Given the description of an element on the screen output the (x, y) to click on. 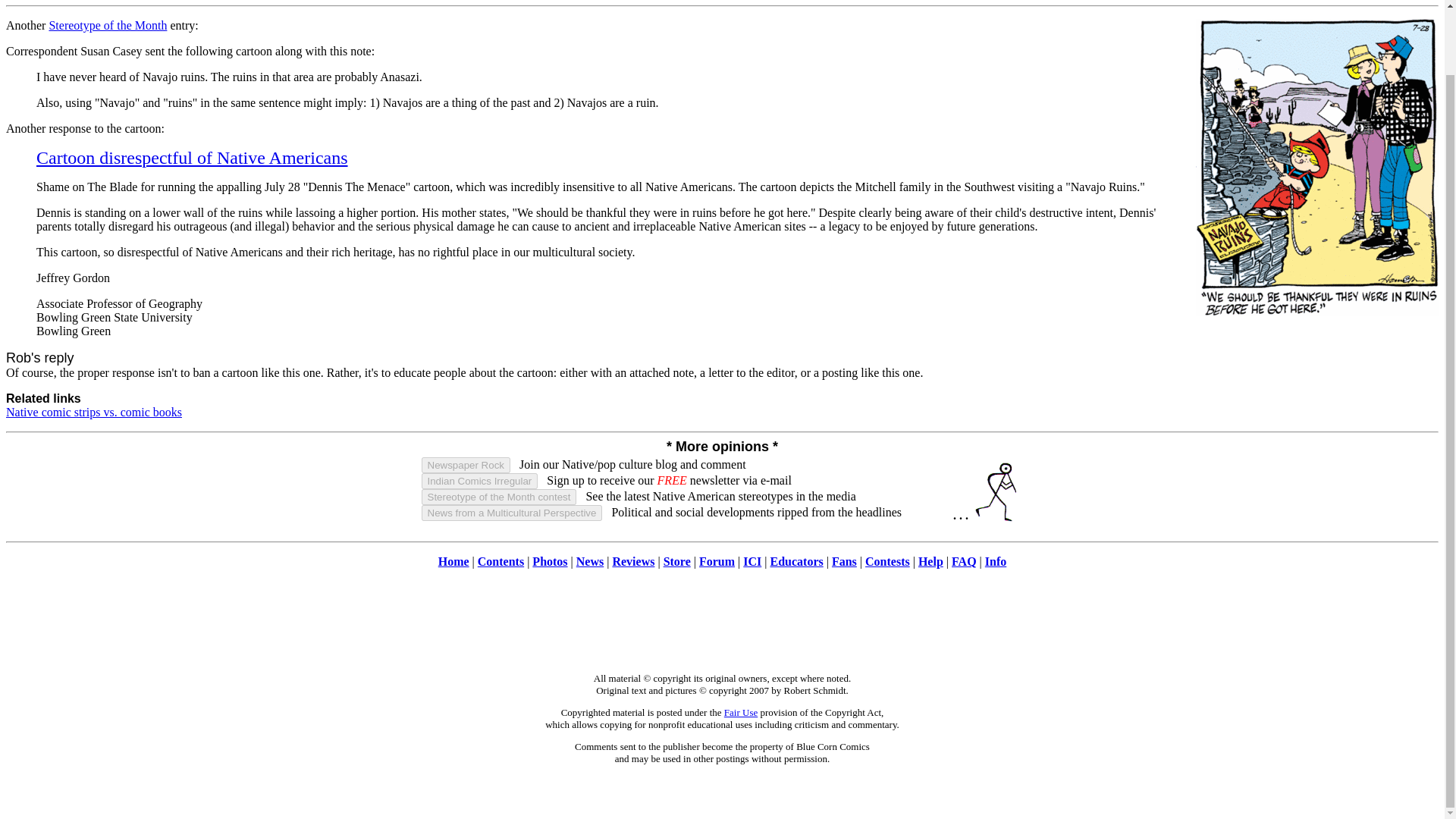
Newspaper Rock (466, 465)
Indian Comics Irregular (480, 480)
News from a Multicultural Perspective (512, 512)
Native comic strips vs. comic books (93, 411)
Stereotype of the Month (107, 24)
Contents (500, 561)
Home (453, 561)
Store (676, 561)
Advertisement (721, 628)
Contests (887, 561)
Fair Use (740, 712)
FAQ (964, 561)
Photos (549, 561)
Info (995, 561)
Educators (797, 561)
